Given the description of an element on the screen output the (x, y) to click on. 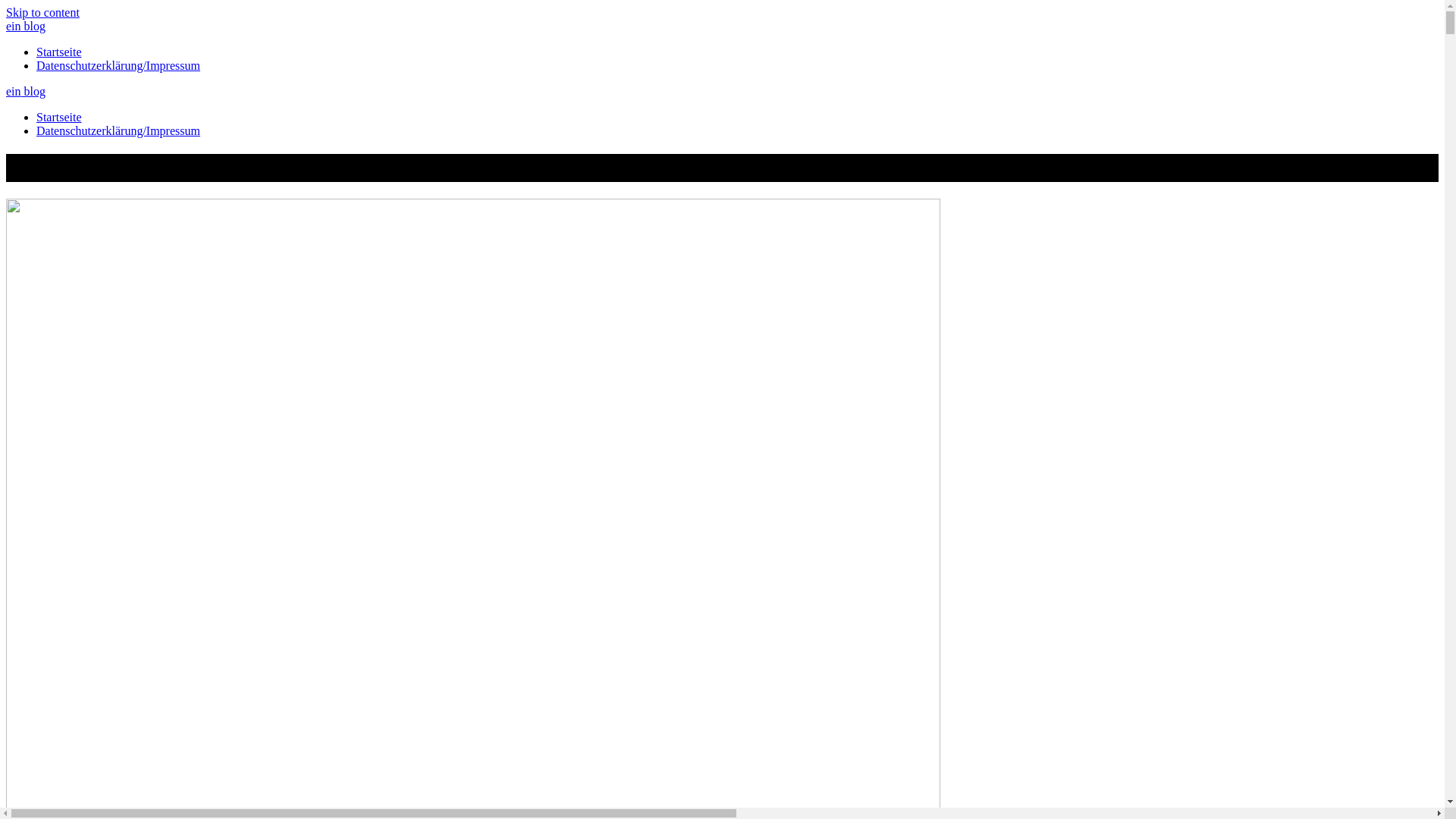
ein blog Element type: text (25, 25)
ein blog Element type: text (25, 90)
Skip to content Element type: text (42, 12)
Startseite Element type: text (58, 116)
Startseite Element type: text (58, 51)
